Given the description of an element on the screen output the (x, y) to click on. 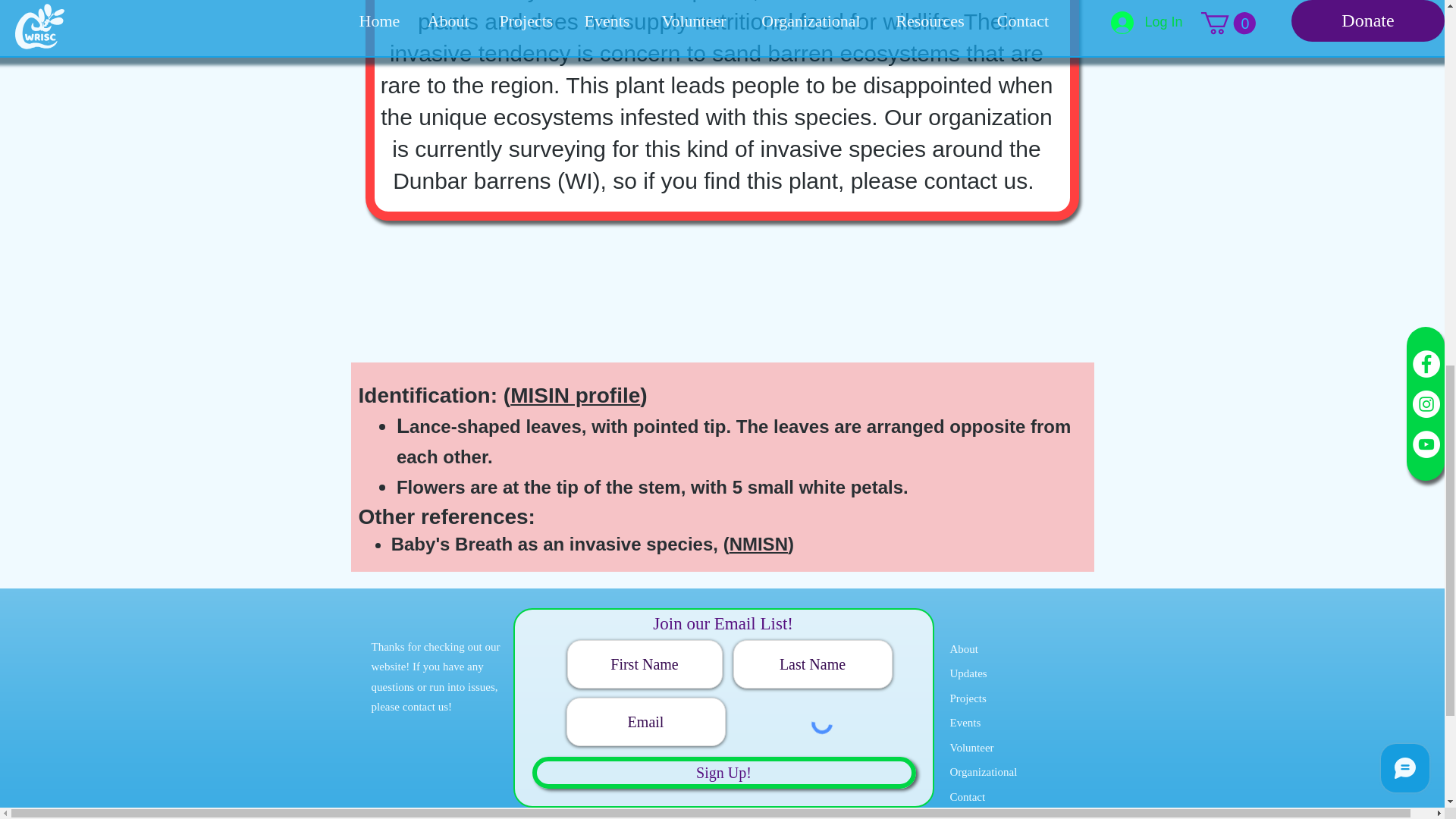
Projects (967, 698)
Sign Up! (723, 772)
MISIN profile (575, 395)
Contact (967, 797)
Volunteer (970, 747)
Organizational (982, 771)
Events (964, 722)
About (963, 648)
Updates (968, 685)
